Given the description of an element on the screen output the (x, y) to click on. 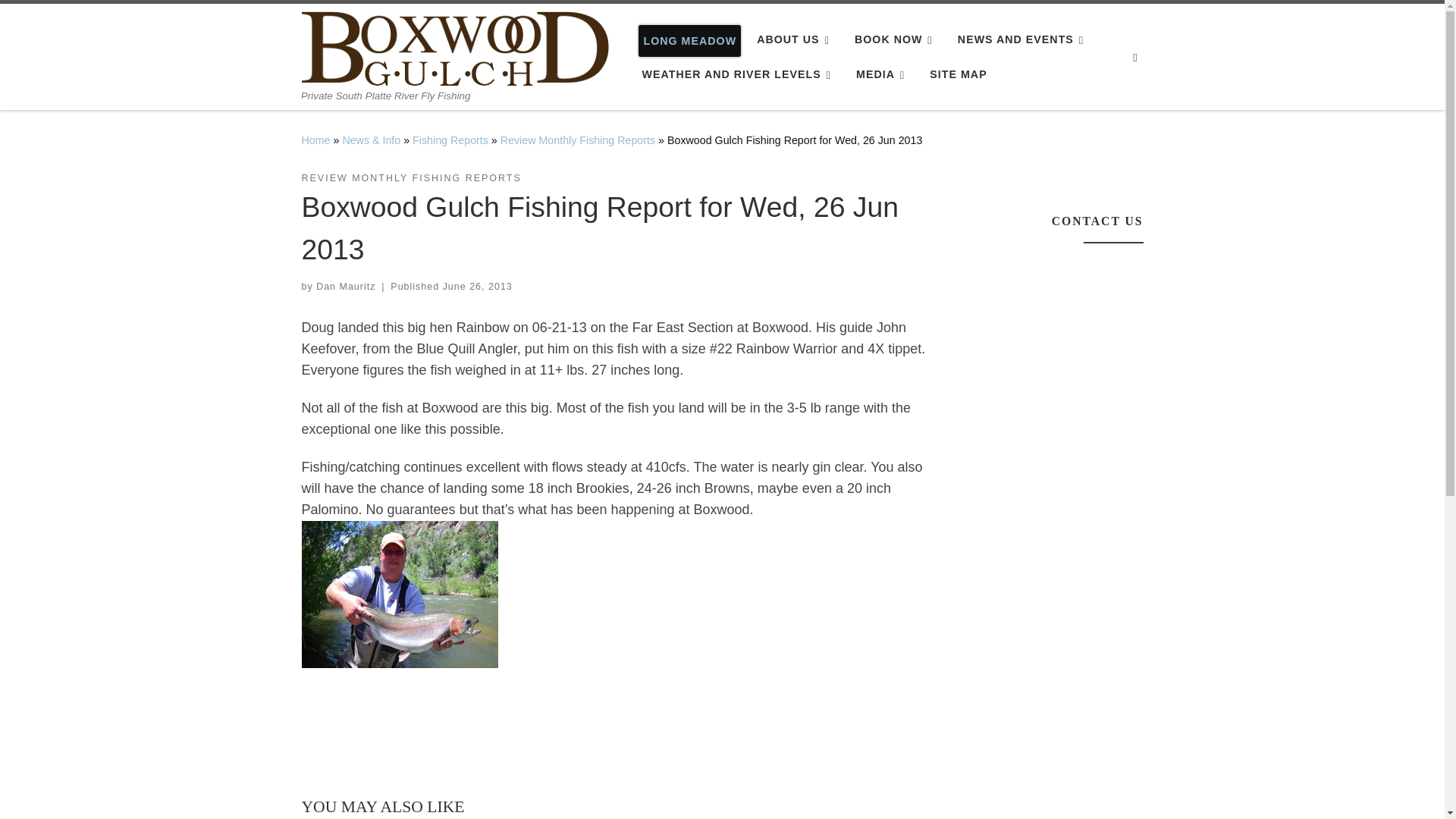
Fishing Reports (449, 140)
SITE MAP (957, 74)
View all posts in Review Monthly Fishing Reports (411, 178)
ABOUT US (796, 39)
Skip to content (60, 20)
WEATHER AND RIVER LEVELS (739, 74)
View all posts by Dan Mauritz (345, 286)
NEWS AND EVENTS (1023, 39)
LONG MEADOW (690, 40)
MEDIA (883, 74)
Review Monthly Fishing Reports (577, 140)
10:00 am (477, 286)
BOOK NOW (896, 39)
